Given the description of an element on the screen output the (x, y) to click on. 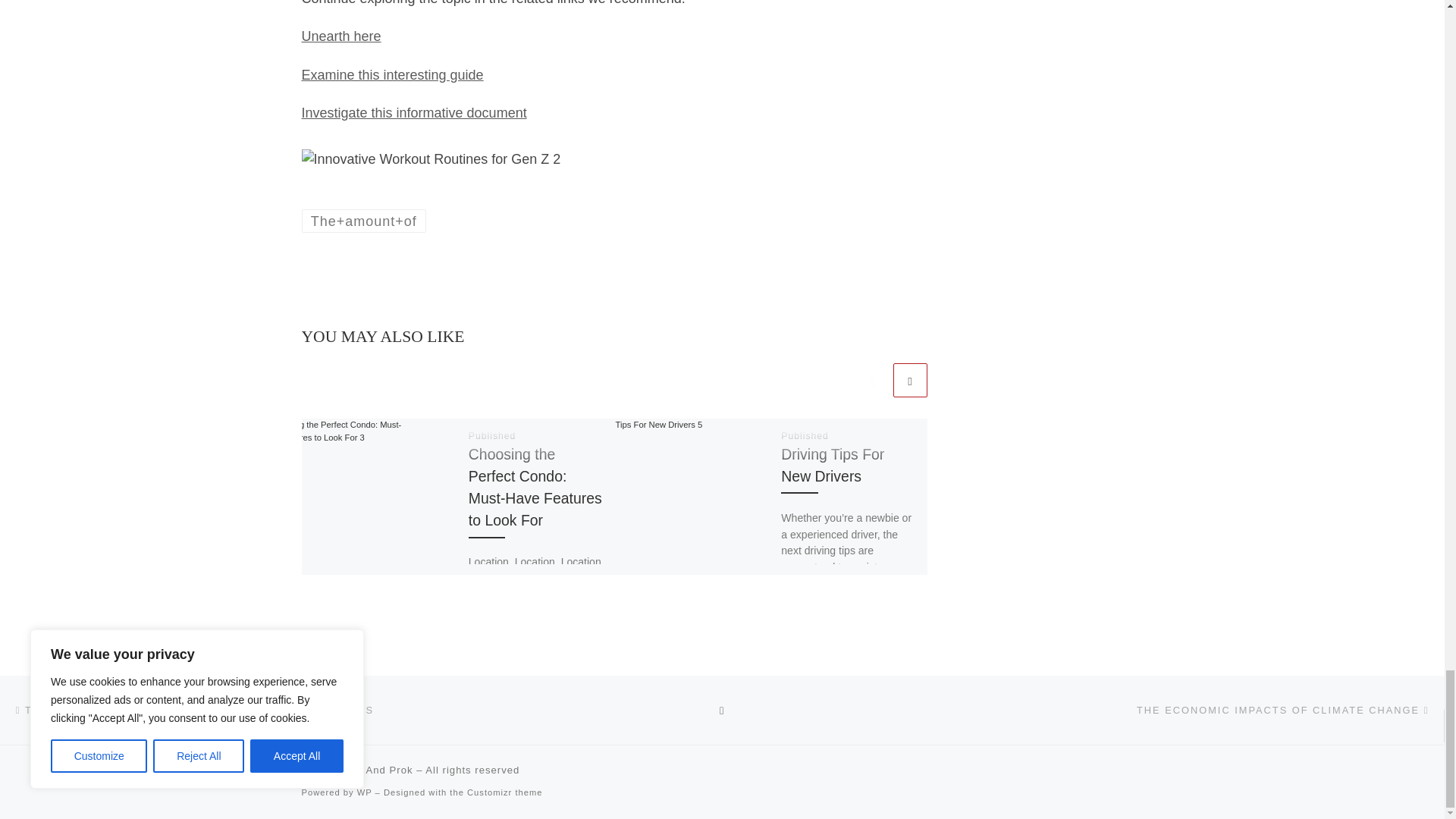
Unearth here (341, 36)
Next related articles (910, 380)
Investigate this informative document (414, 112)
Powered by WordPress (364, 791)
Mile And Prok (377, 769)
Previous related articles (872, 380)
Customizr theme (505, 791)
Examine this interesting guide (392, 74)
